Given the description of an element on the screen output the (x, y) to click on. 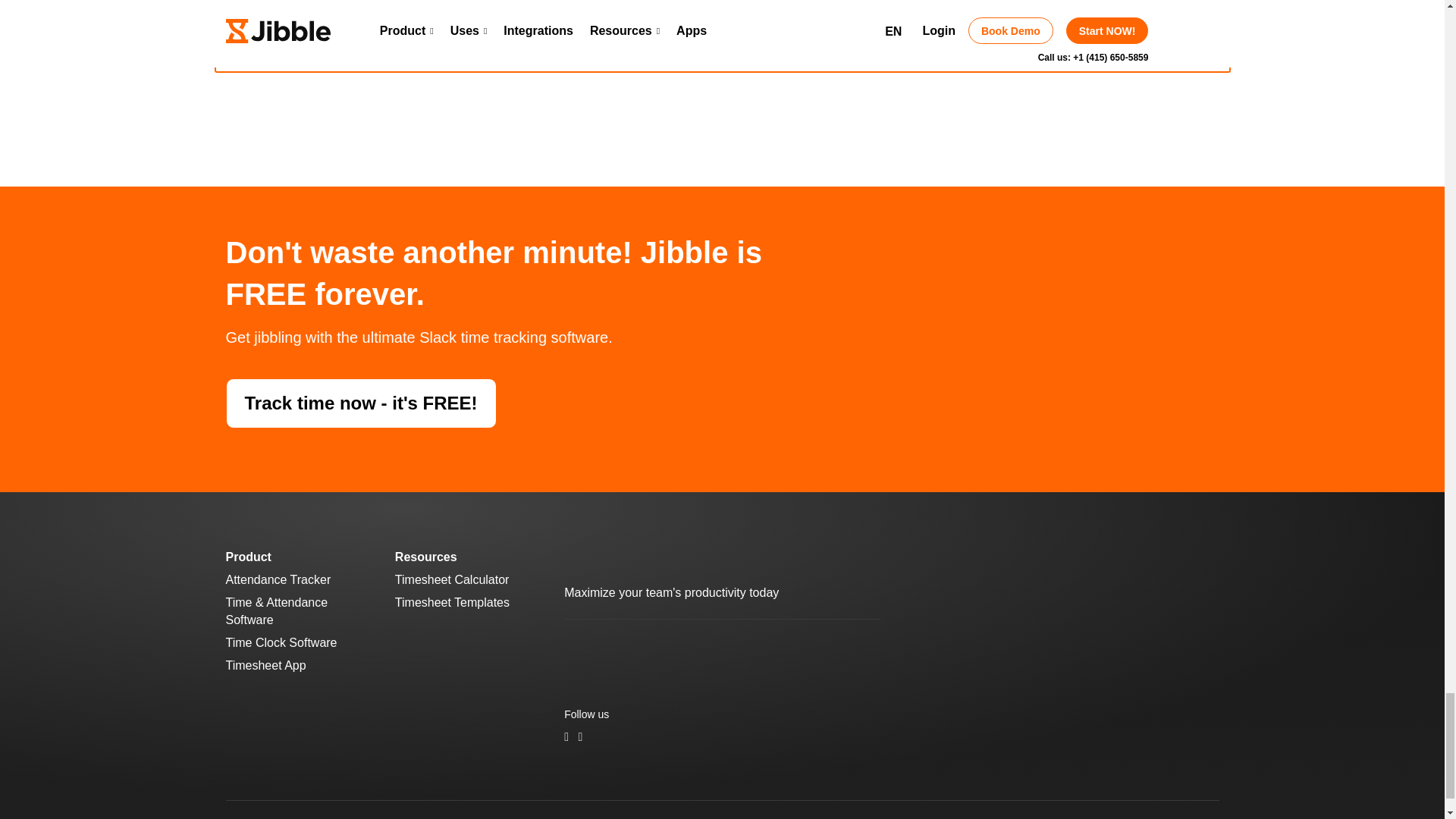
App Store (604, 648)
Google Chrome Extension (784, 648)
Google Play (694, 648)
